Given the description of an element on the screen output the (x, y) to click on. 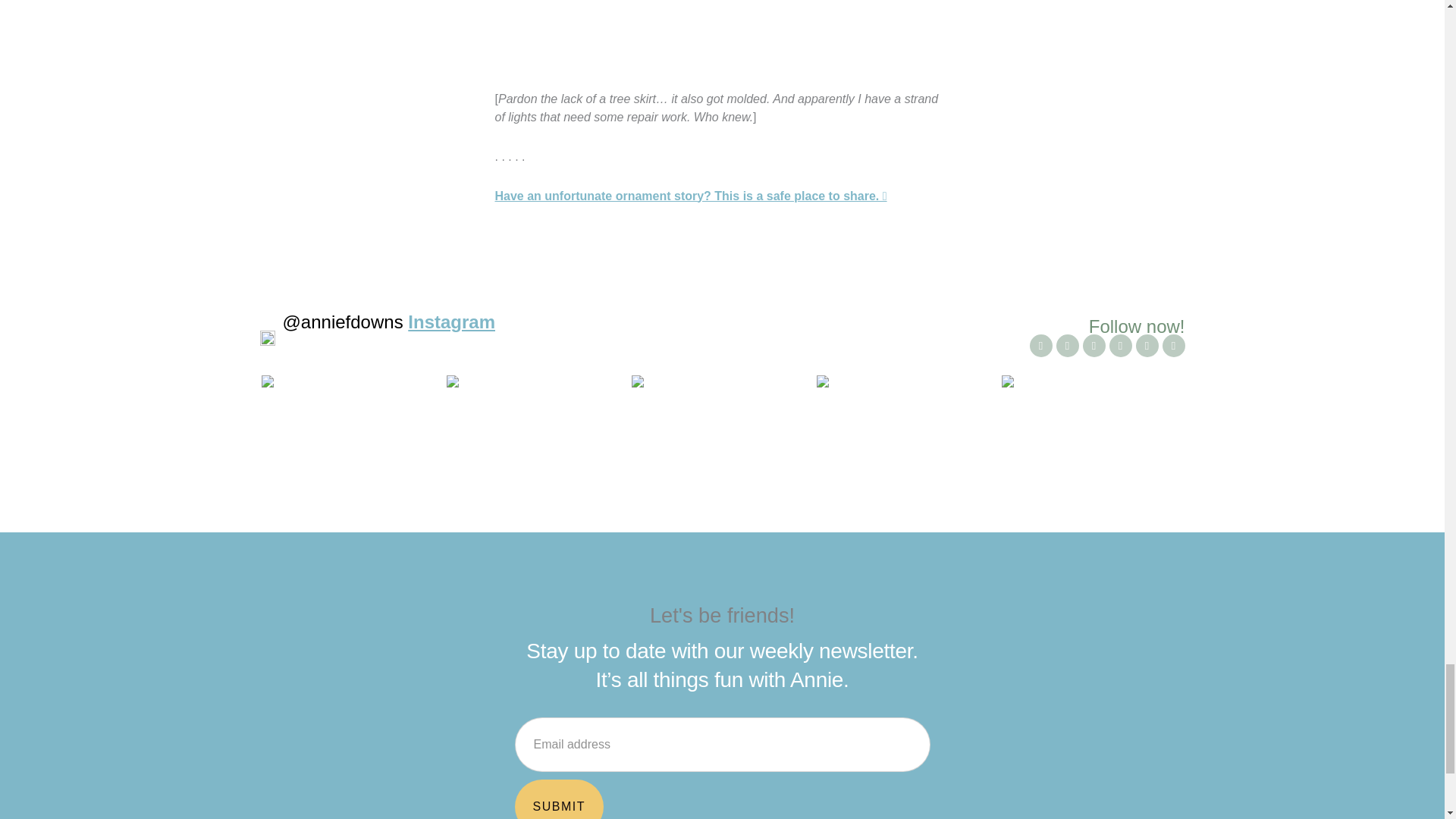
tree (722, 34)
